Given the description of an element on the screen output the (x, y) to click on. 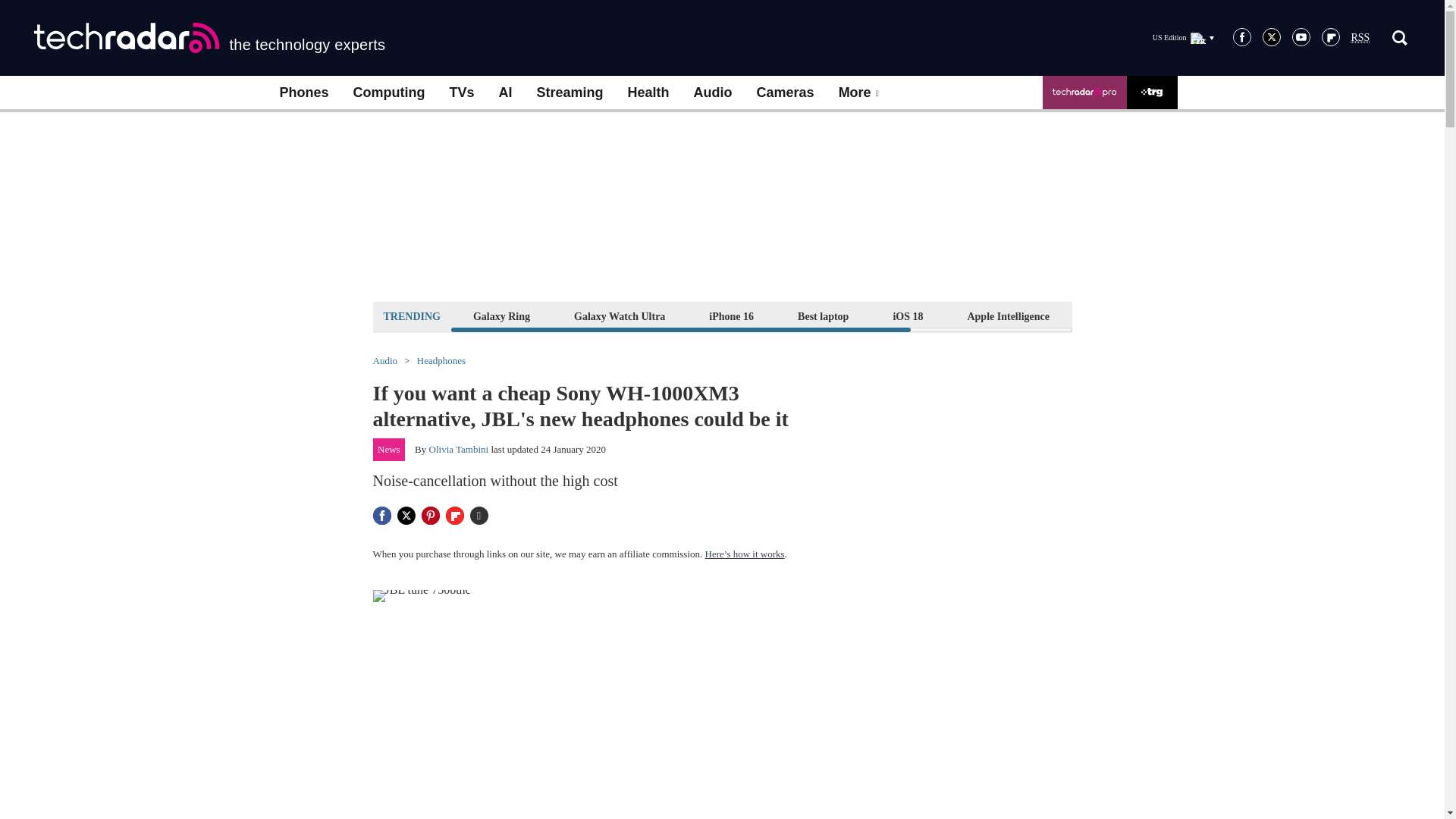
TVs (461, 92)
Cameras (785, 92)
the technology experts (209, 38)
Really Simple Syndication (1360, 37)
Phones (303, 92)
US Edition (1182, 37)
Health (648, 92)
Audio (712, 92)
Streaming (569, 92)
Computing (389, 92)
AI (505, 92)
